Given the description of an element on the screen output the (x, y) to click on. 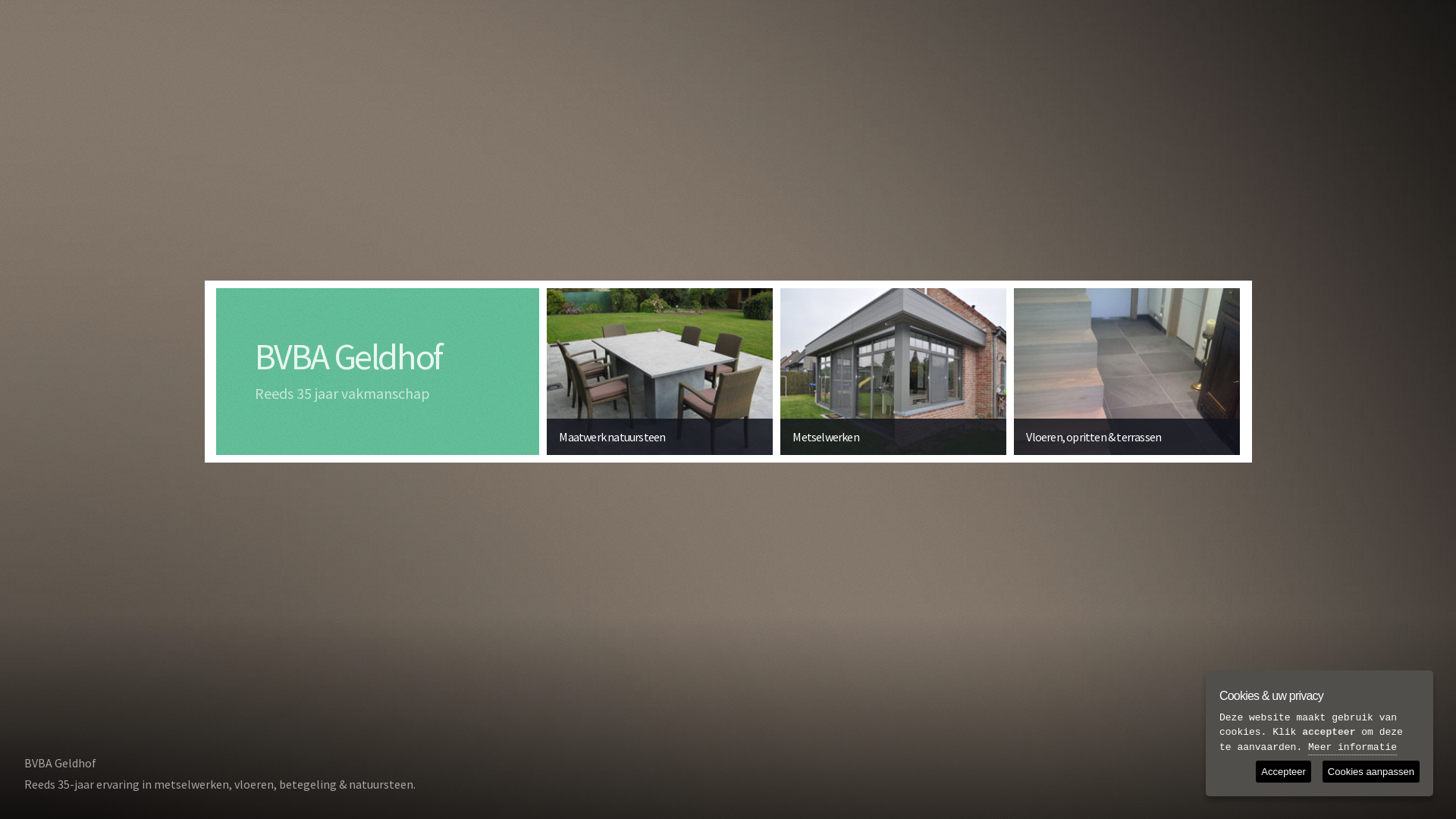
Meer informatie Element type: text (1352, 748)
Cookies aanpassen Element type: text (1370, 771)
Accepteer Element type: text (1283, 771)
uw privacy Element type: text (1292, 783)
digital roads Element type: text (1398, 783)
BVBA Geldhof Element type: text (348, 356)
 Contact Element type: text (1391, 754)
